Given the description of an element on the screen output the (x, y) to click on. 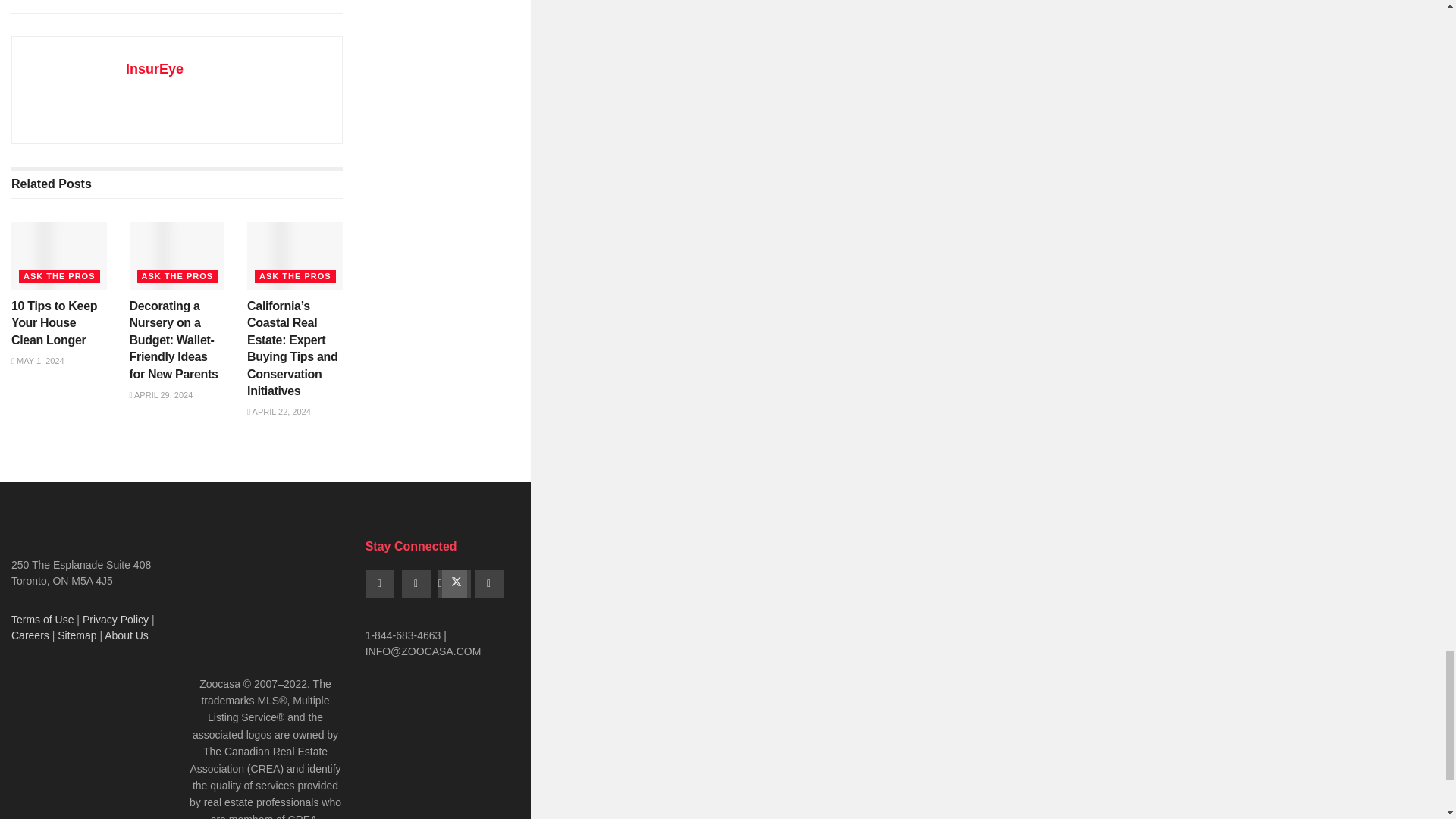
MAY 1, 2024 (37, 360)
InsurEye (154, 68)
10 Tips to Keep Your House Clean Longer (54, 322)
ASK THE PROS (59, 276)
